Given the description of an element on the screen output the (x, y) to click on. 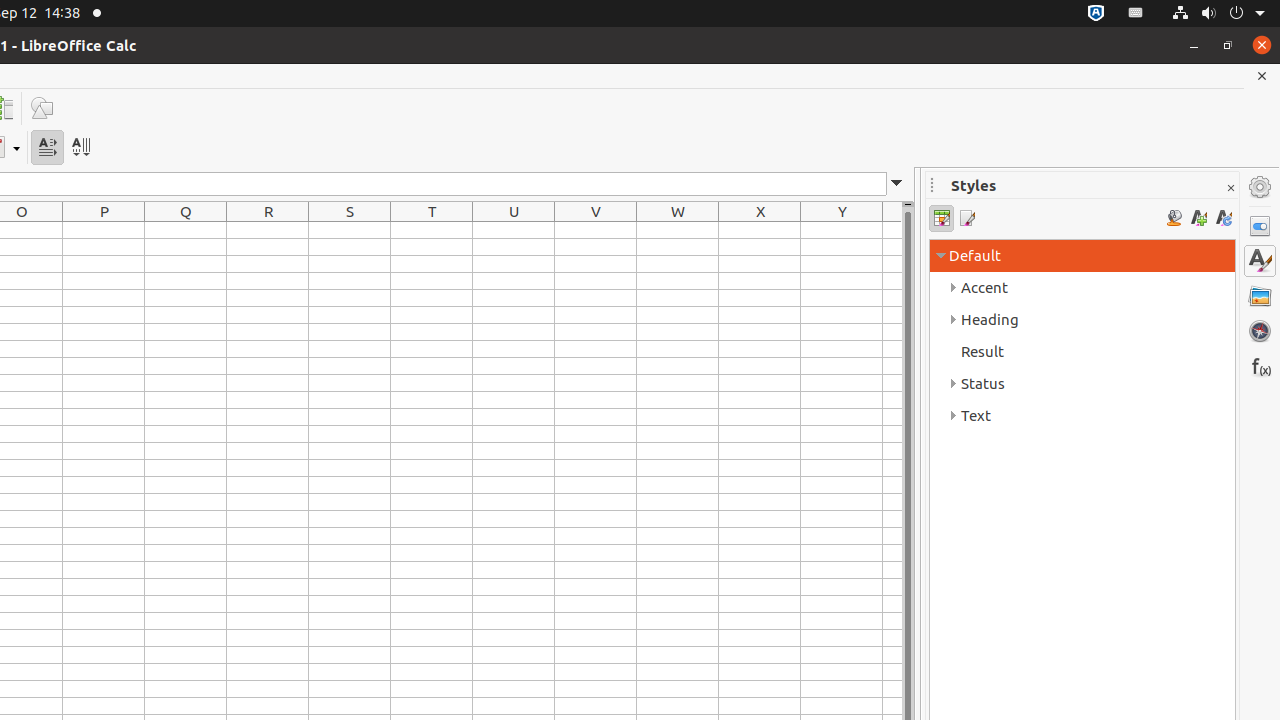
Navigator Element type: radio-button (1260, 331)
U1 Element type: table-cell (514, 230)
W1 Element type: table-cell (678, 230)
Q1 Element type: table-cell (186, 230)
Expand Formula Bar Element type: push-button (897, 183)
